Given the description of an element on the screen output the (x, y) to click on. 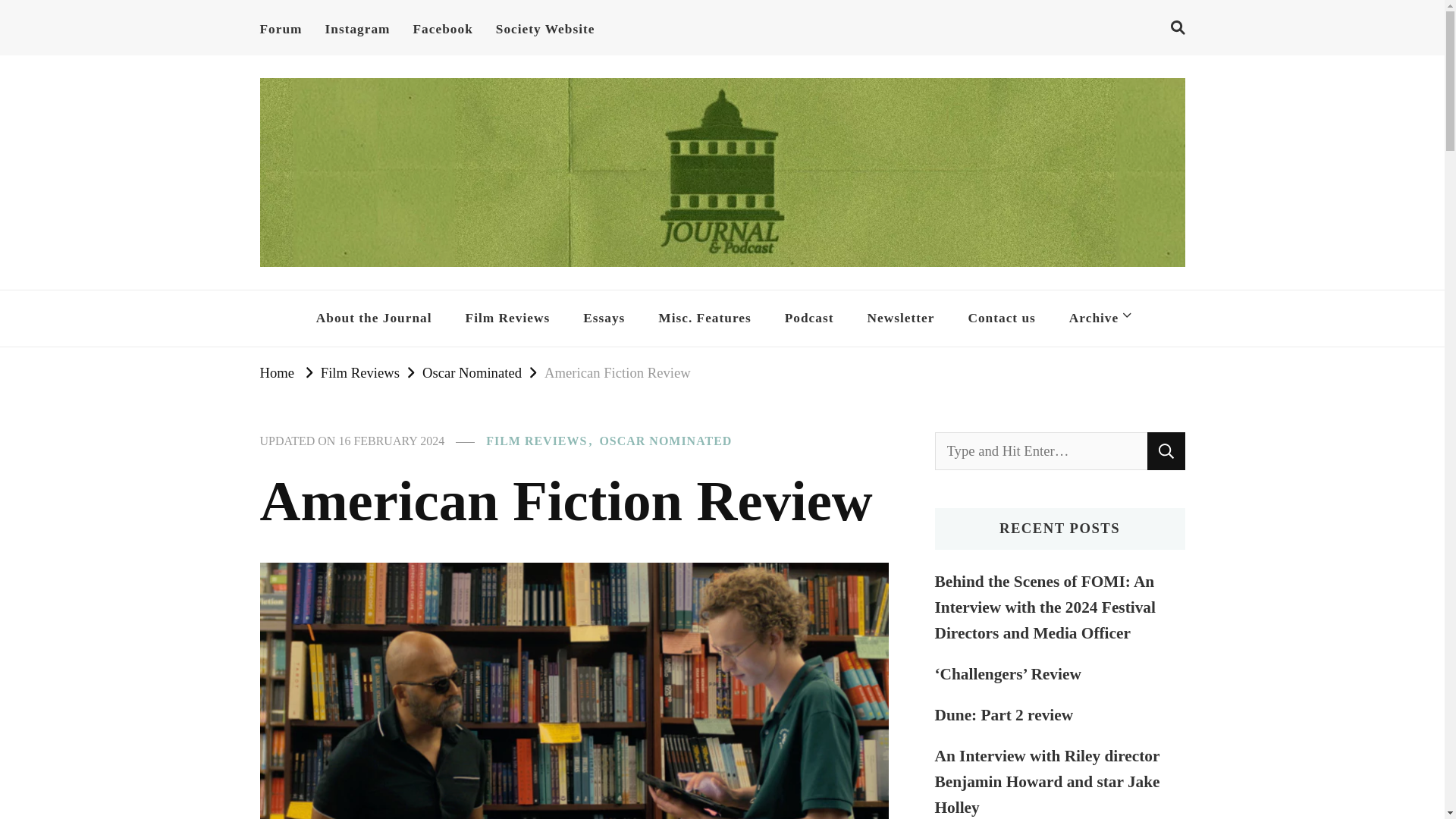
About the Journal (373, 318)
Oscar Nominated (471, 371)
OSCAR NOMINATED (665, 441)
FILM REVIEWS (540, 441)
Search (1166, 451)
Misc. Features (704, 318)
Archive (1098, 318)
Search (1166, 451)
Newsletter (901, 318)
16 FEBRUARY 2024 (390, 441)
